Given the description of an element on the screen output the (x, y) to click on. 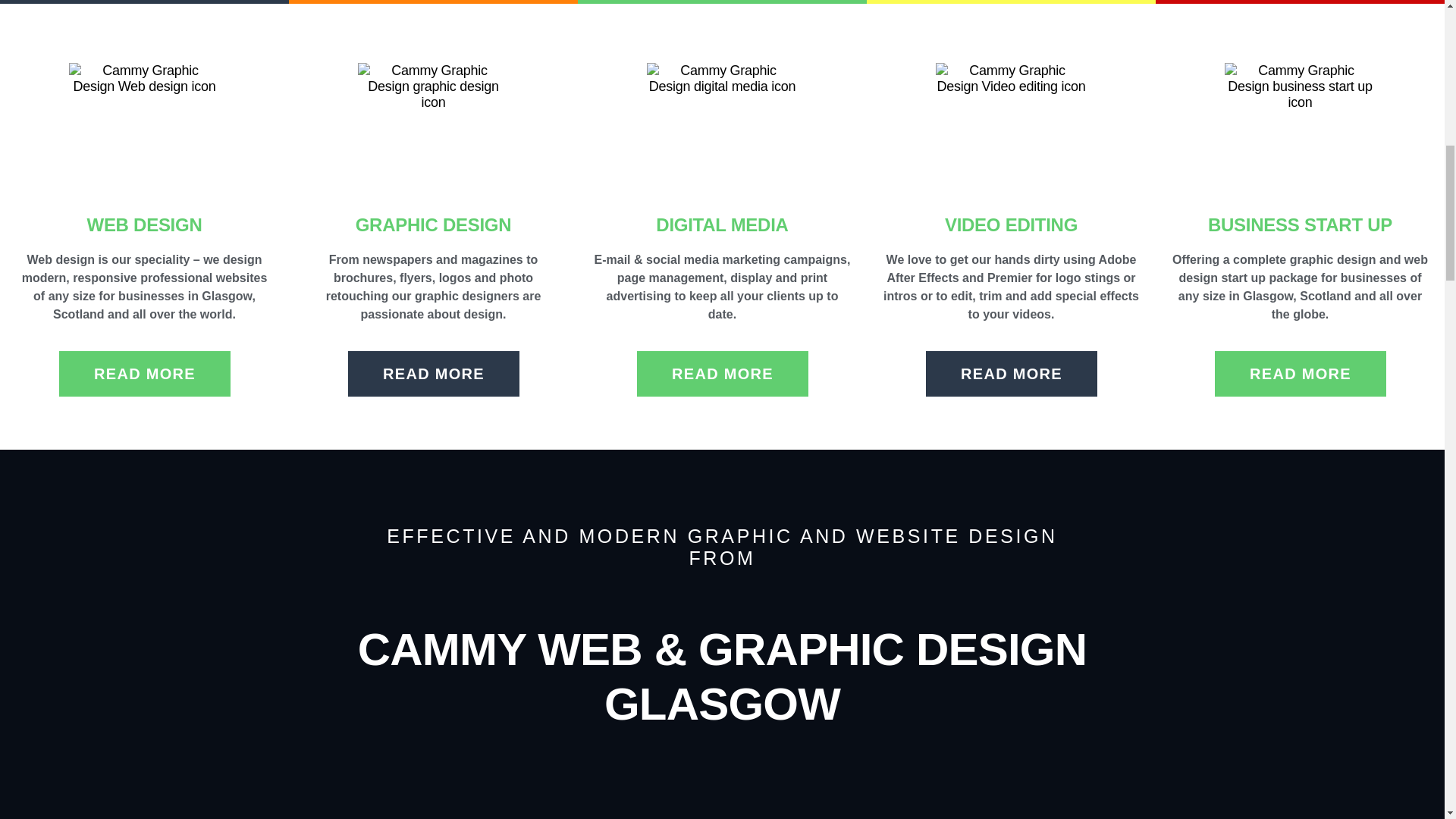
READ MORE (144, 373)
READ MORE (722, 373)
READ MORE (1300, 373)
READ MORE (433, 373)
READ MORE (1011, 373)
